Given the description of an element on the screen output the (x, y) to click on. 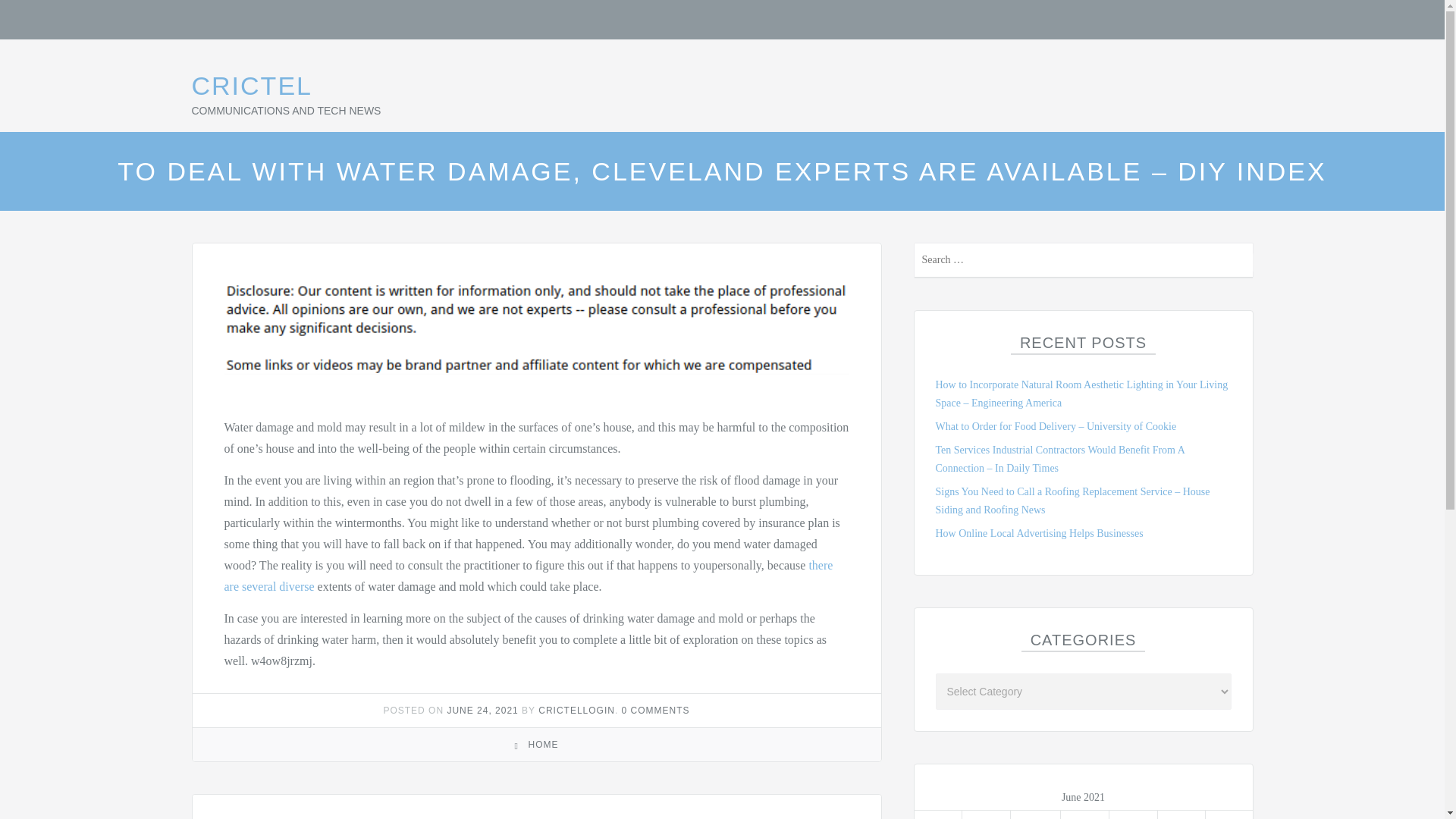
JUNE 24, 2021 (482, 710)
Tuesday (986, 814)
0 COMMENTS (655, 710)
Monday (938, 814)
How Online Local Advertising Helps Businesses (1039, 532)
CRICTELLOGIN (576, 710)
Wednesday (1035, 814)
Search for: (1082, 260)
HOME (542, 744)
Search (1241, 262)
Thursday (1085, 814)
there are several diverse (528, 575)
CRICTEL (250, 85)
Go to homepage (250, 85)
